Given the description of an element on the screen output the (x, y) to click on. 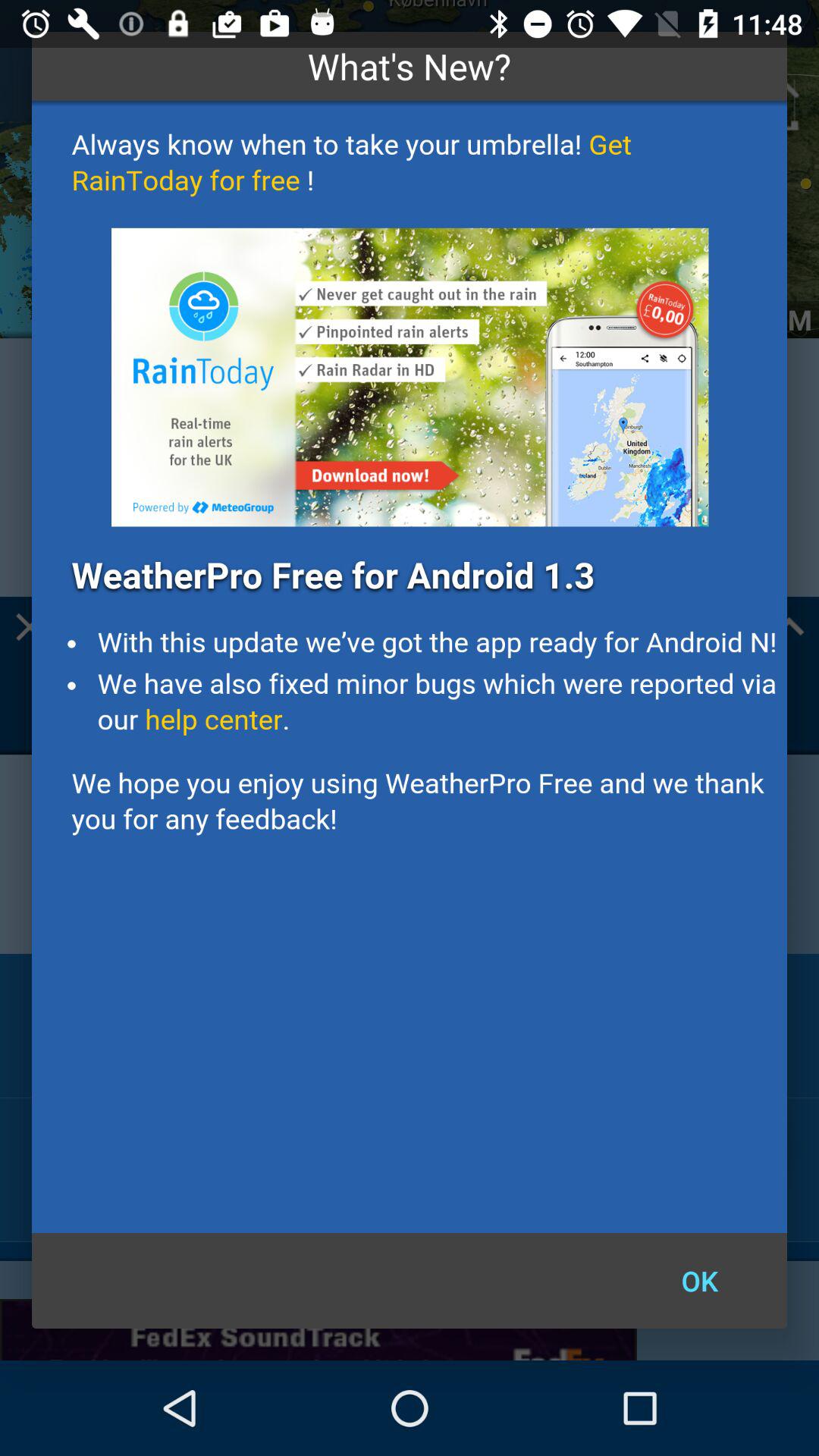
update details (409, 666)
